Given the description of an element on the screen output the (x, y) to click on. 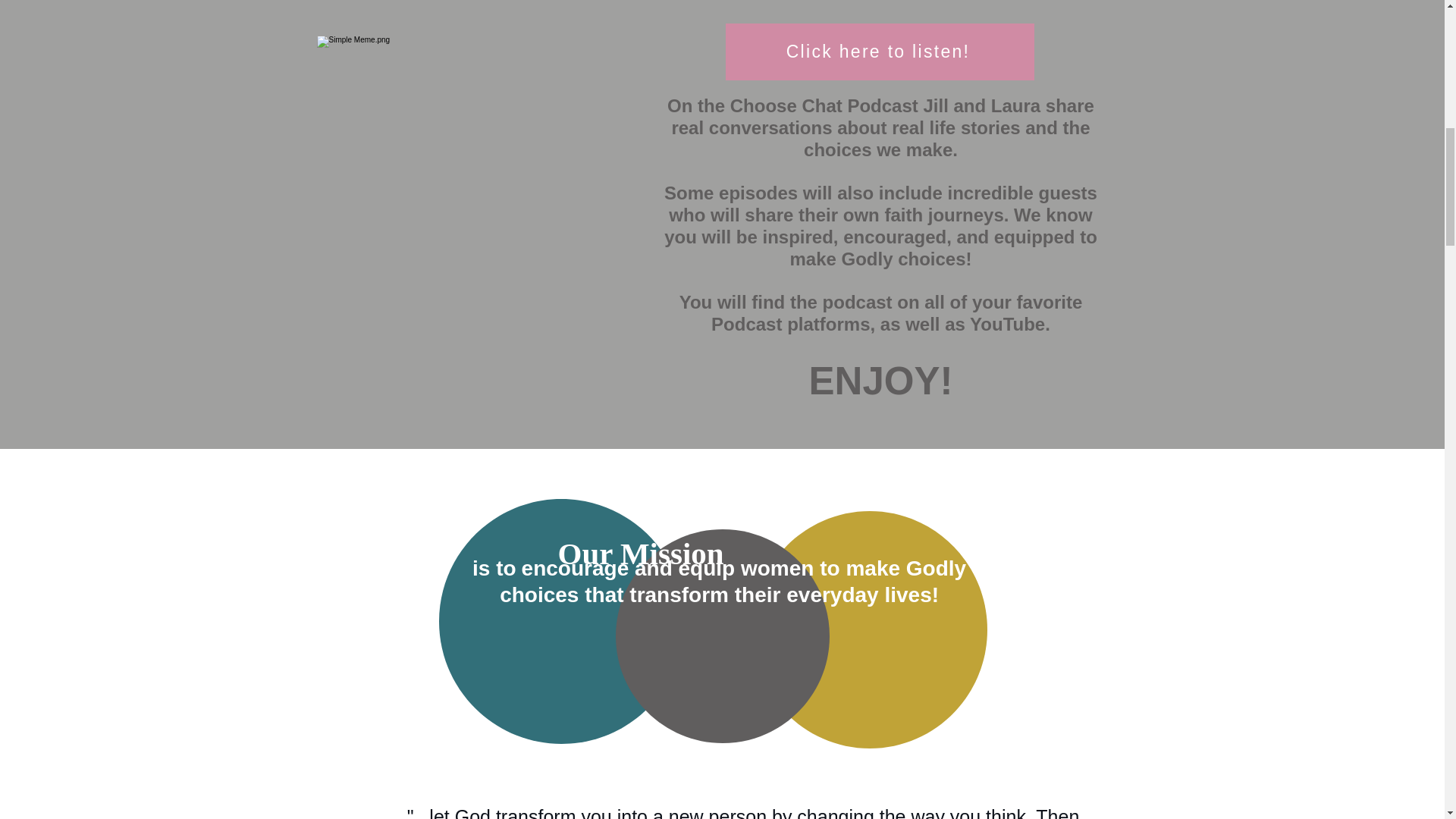
Click here to listen! (879, 51)
